Given the description of an element on the screen output the (x, y) to click on. 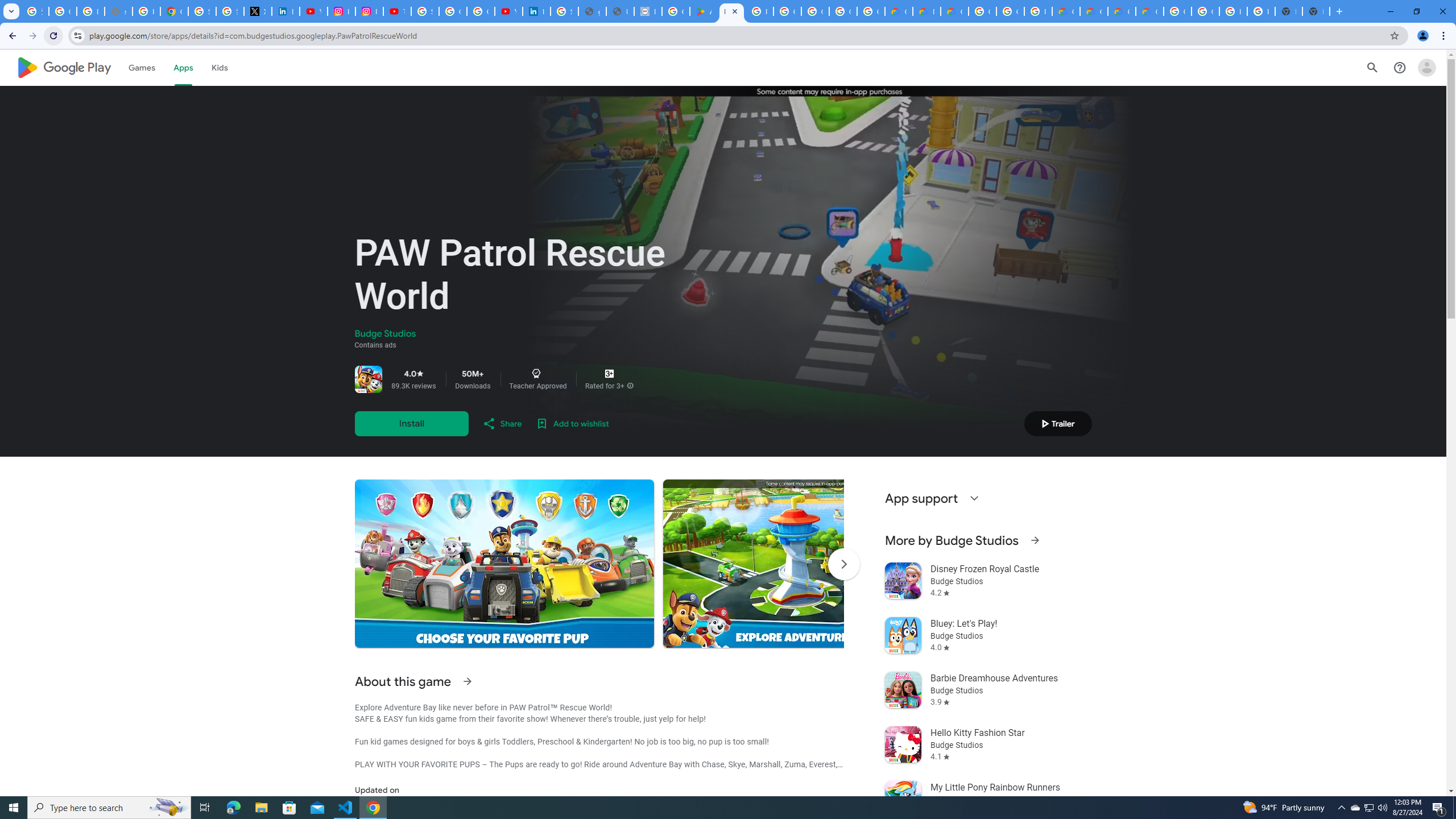
Apps (182, 67)
Customer Care | Google Cloud (898, 11)
User Details (620, 11)
Google Cloud Platform (982, 11)
Google Cloud Pricing Calculator (1121, 11)
Android Apps on Google Play (703, 11)
Google Cloud Service Health (1150, 11)
google_privacy_policy_en.pdf (592, 11)
See more information on More by Budge Studios (1034, 539)
